Given the description of an element on the screen output the (x, y) to click on. 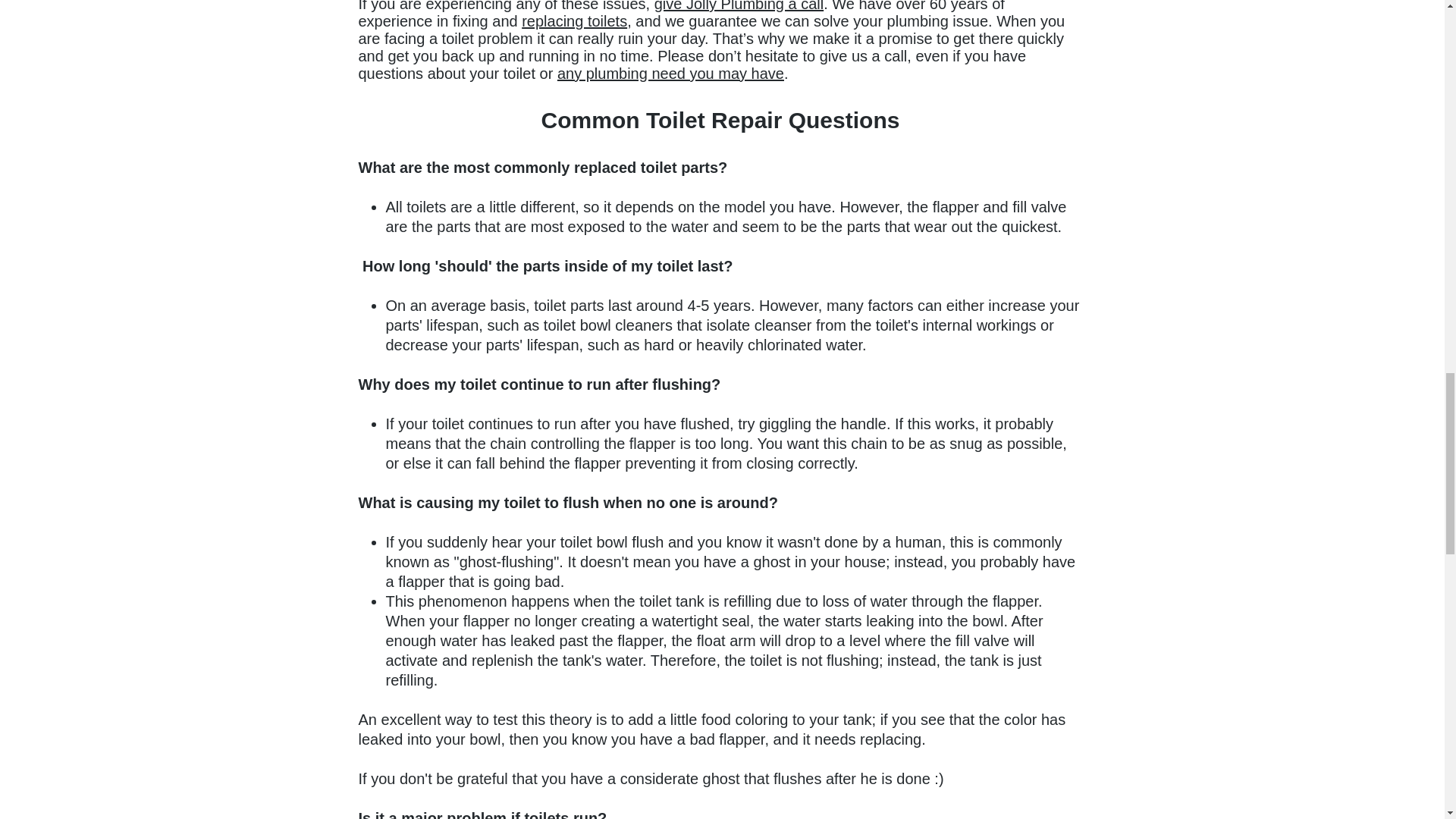
give Jolly Plumbing a call (738, 6)
any plumbing need you may have (670, 73)
replacing toilets (574, 21)
